Given the description of an element on the screen output the (x, y) to click on. 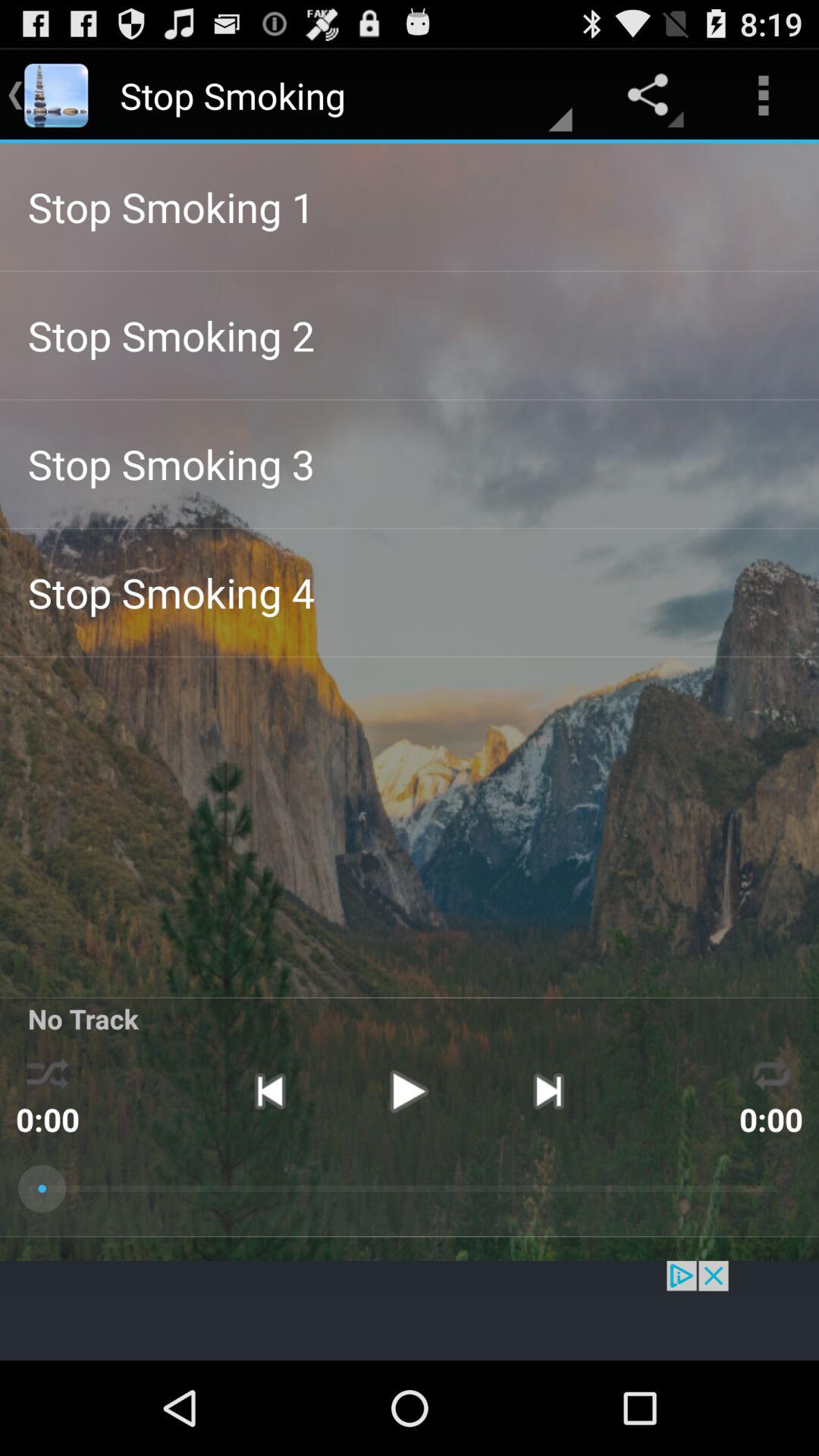
advertisement area (409, 1310)
